Given the description of an element on the screen output the (x, y) to click on. 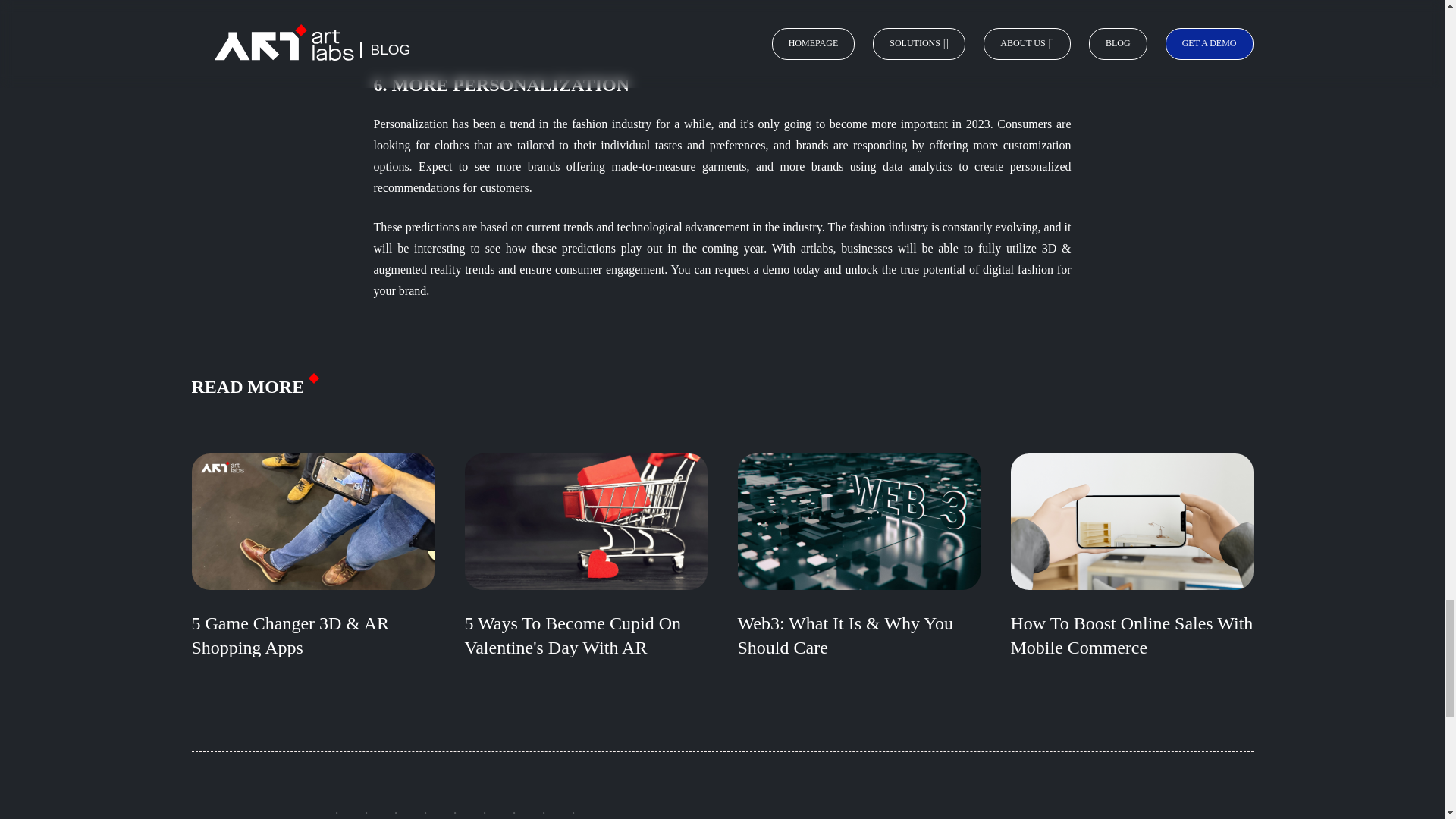
5 Ways To Become Cupid On Valentine's Day With AR (585, 571)
How To Boost Online Sales With Mobile Commerce (1131, 571)
request a demo today (767, 269)
